Given the description of an element on the screen output the (x, y) to click on. 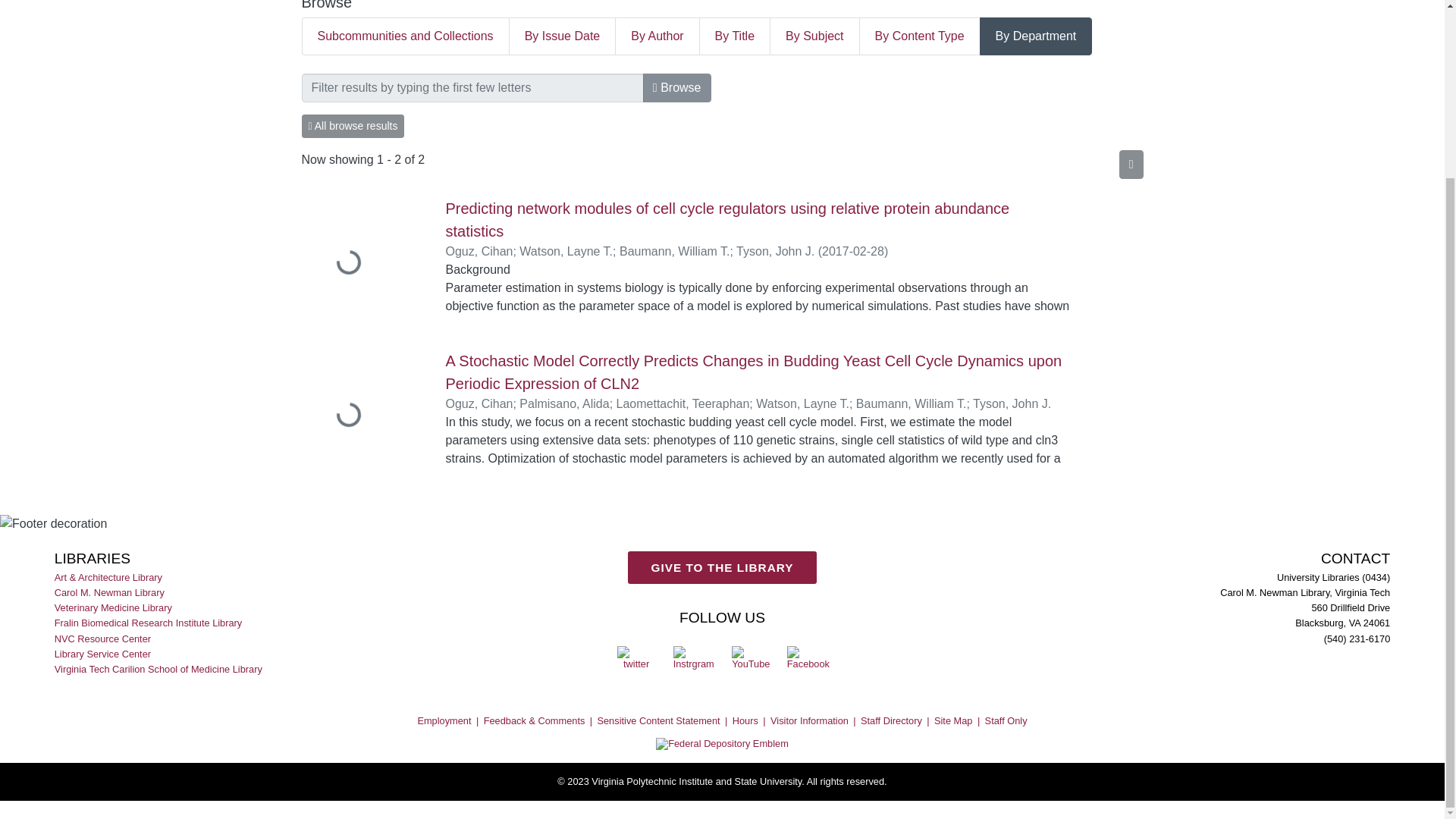
By Department (1036, 36)
By Content Type (919, 36)
By Issue Date (562, 36)
All browse results (352, 126)
By Subject (814, 36)
By Title (735, 36)
Subcommunities and Collections (405, 36)
By Author (656, 36)
Browse (677, 87)
